Given the description of an element on the screen output the (x, y) to click on. 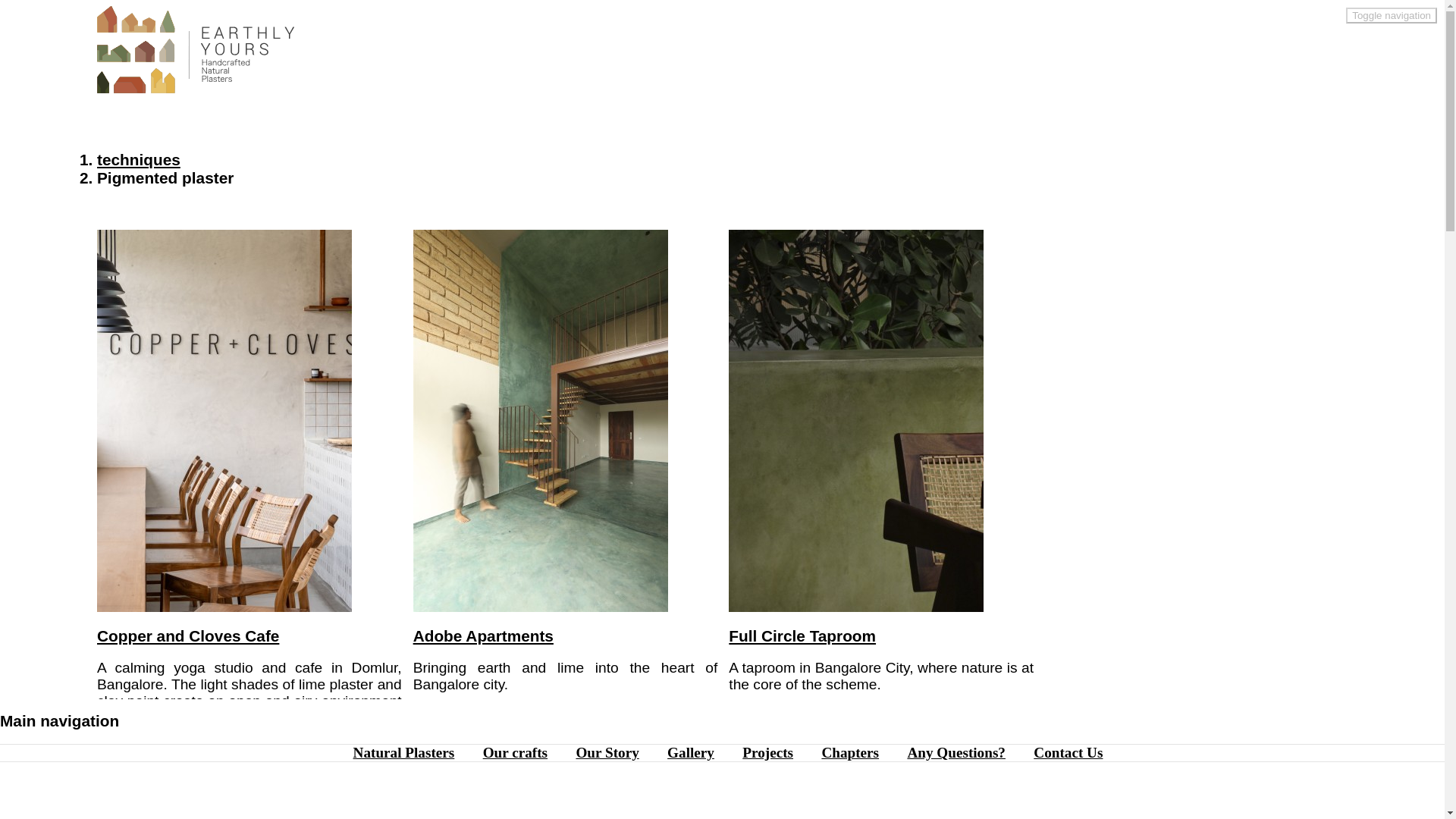
Adobe Apartments (540, 614)
Home (195, 88)
Our Story (794, 746)
Any Questions? (163, 779)
Our crafts (606, 752)
Adobe Apartments (956, 752)
Contact form (514, 752)
Natural Plasters (483, 635)
